Given the description of an element on the screen output the (x, y) to click on. 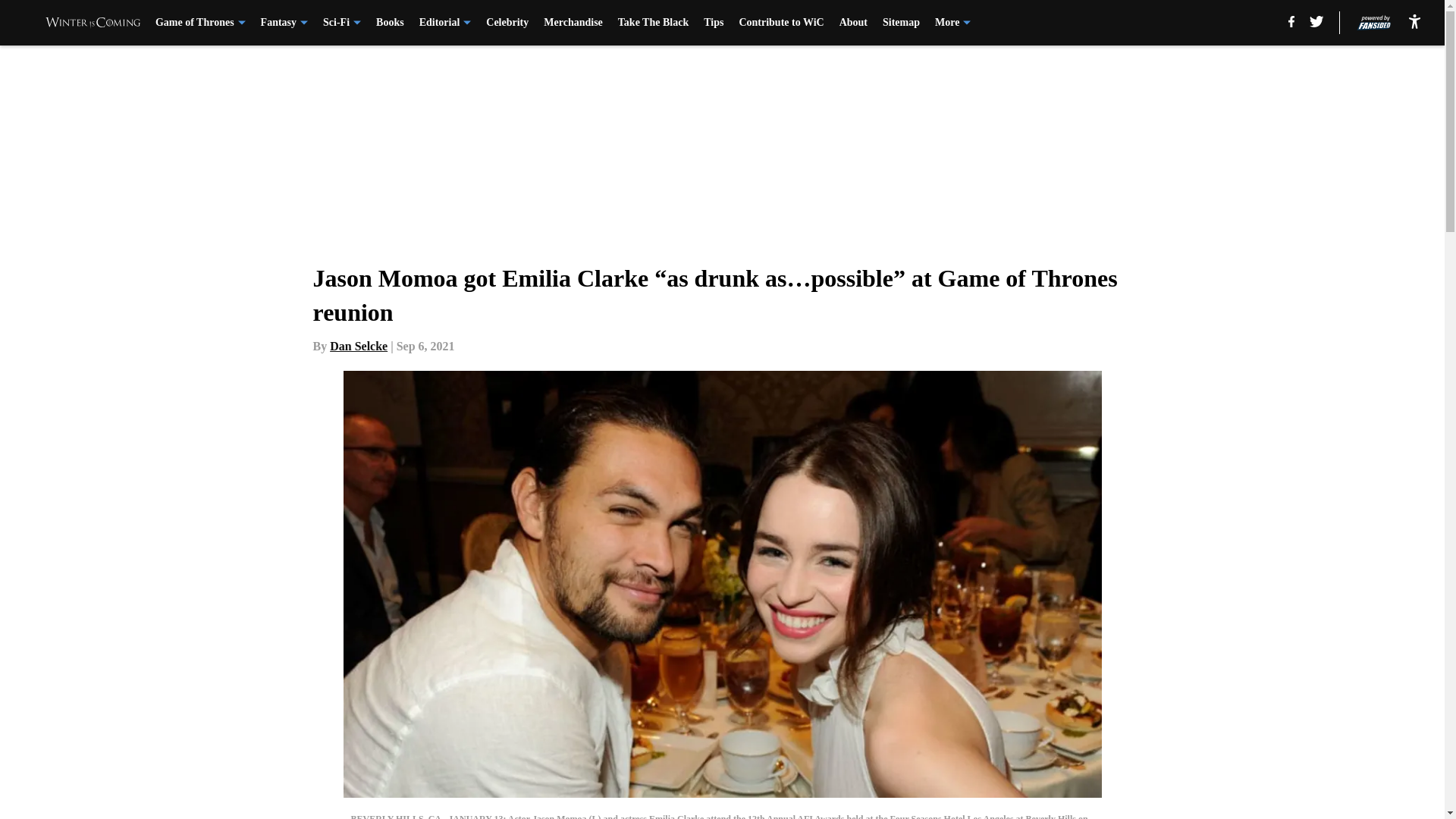
Celebrity (507, 22)
Game of Thrones (200, 22)
Fantasy (283, 22)
Sci-Fi (342, 22)
Editorial (445, 22)
Books (389, 22)
